Given the description of an element on the screen output the (x, y) to click on. 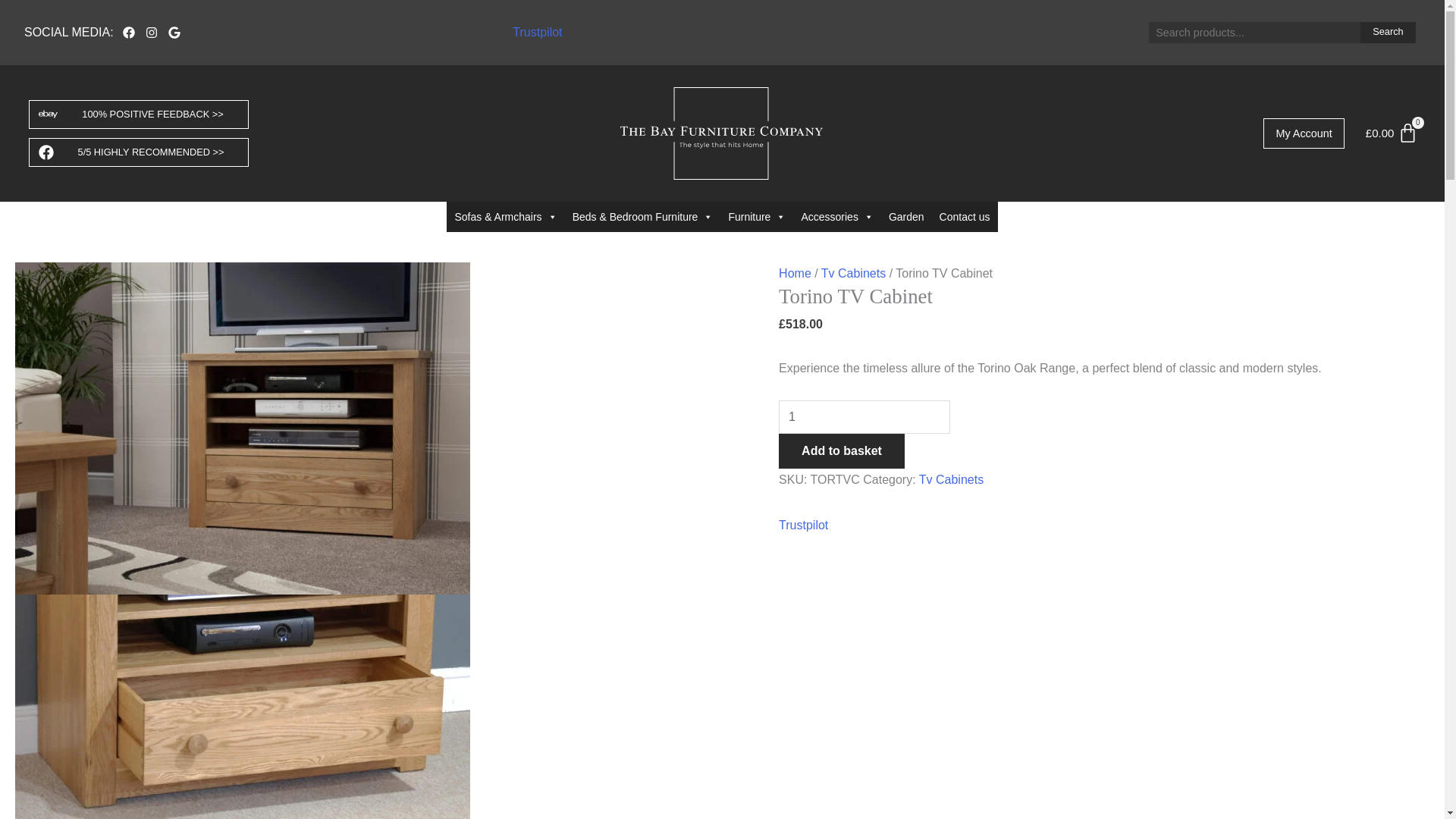
Trustpilot (537, 31)
My Account (1303, 132)
Search (1387, 32)
Instagram (151, 32)
1 (864, 417)
Google (174, 32)
Facebook (128, 32)
